Given the description of an element on the screen output the (x, y) to click on. 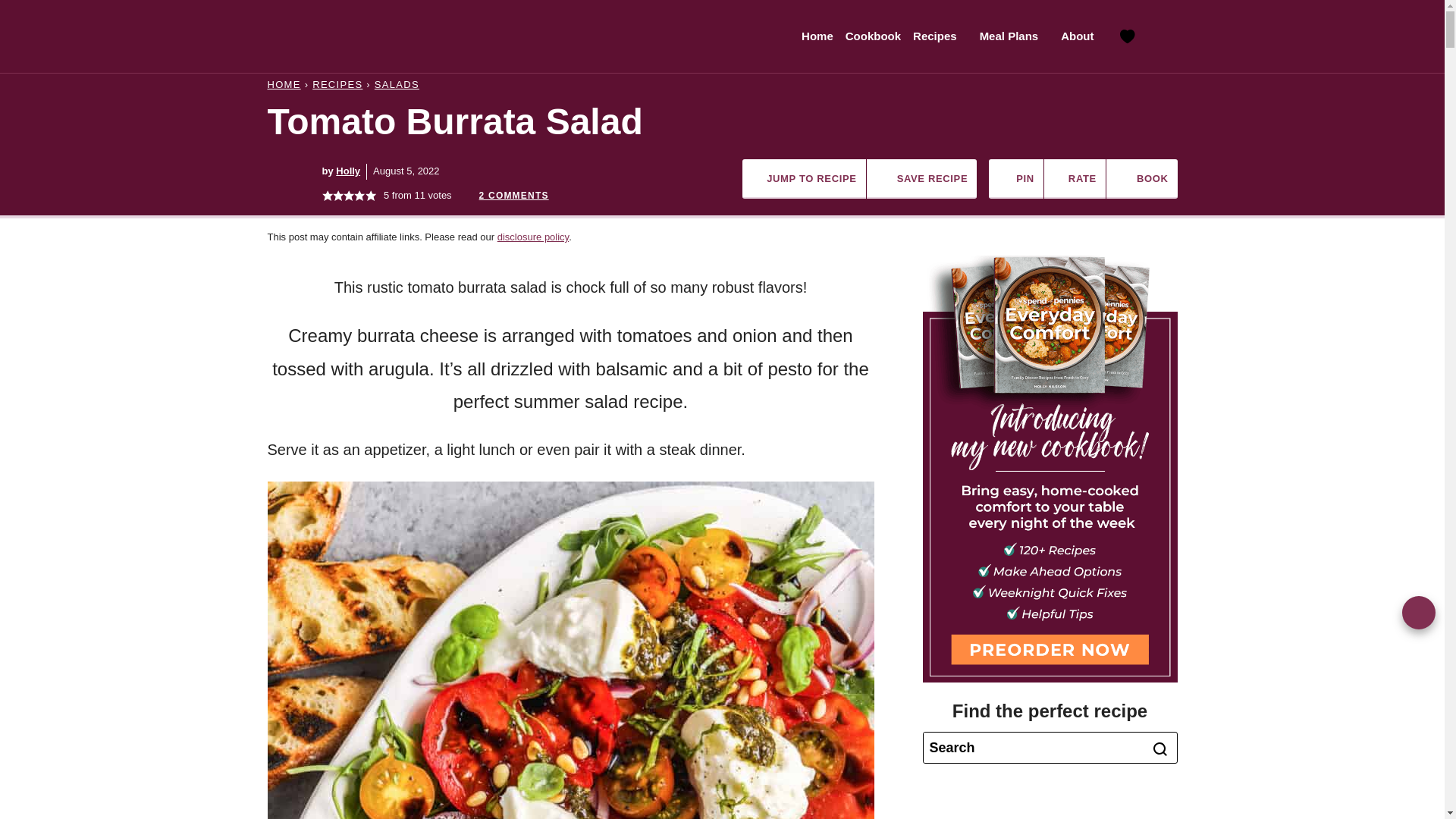
Share on Pinterest (1015, 178)
Meal Plans (1014, 35)
About (1081, 35)
Cookbook (873, 35)
Share on Pinterest (1418, 612)
Recipes (940, 35)
Home (817, 35)
